Given the description of an element on the screen output the (x, y) to click on. 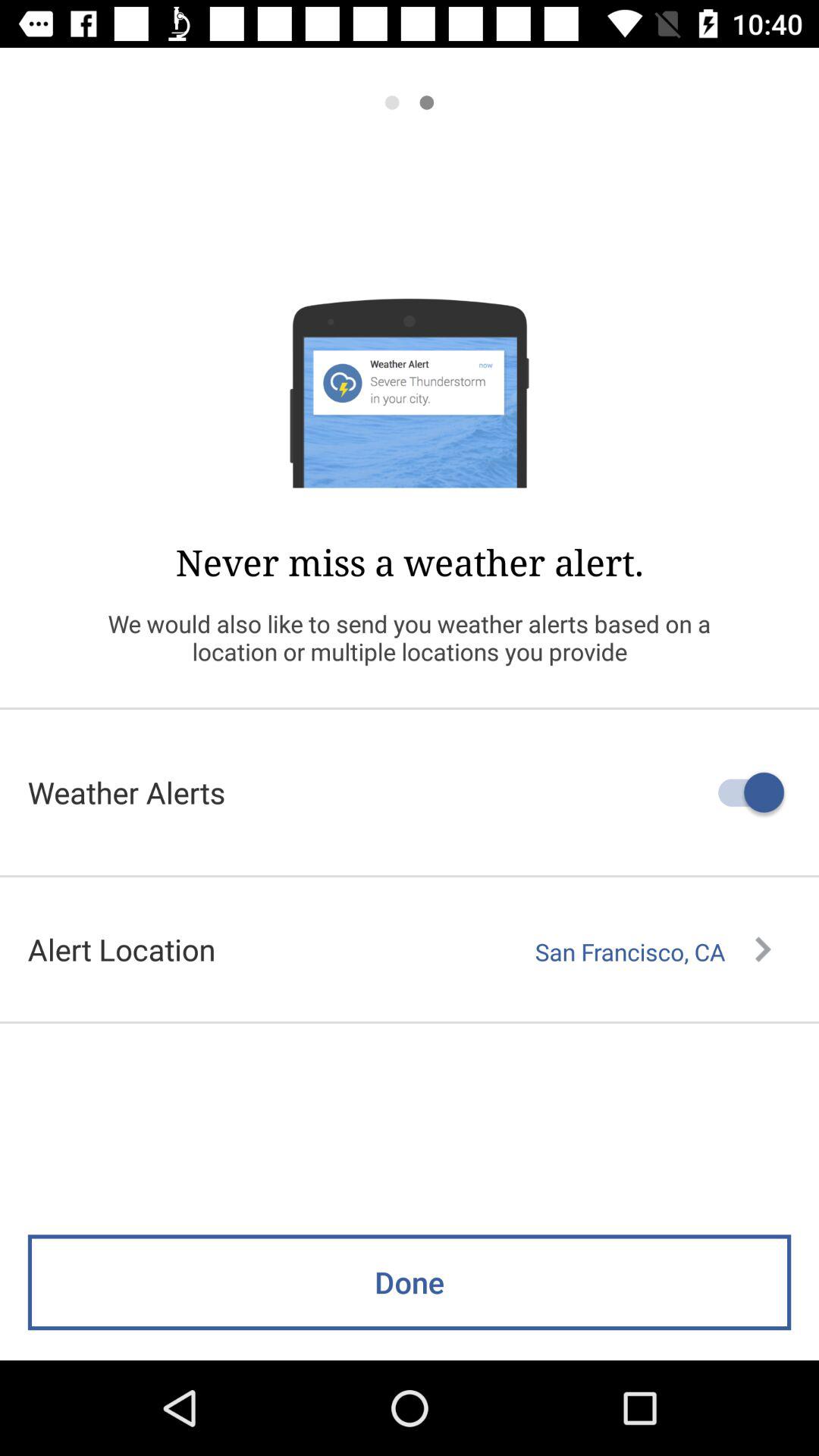
tap done (409, 1282)
